Given the description of an element on the screen output the (x, y) to click on. 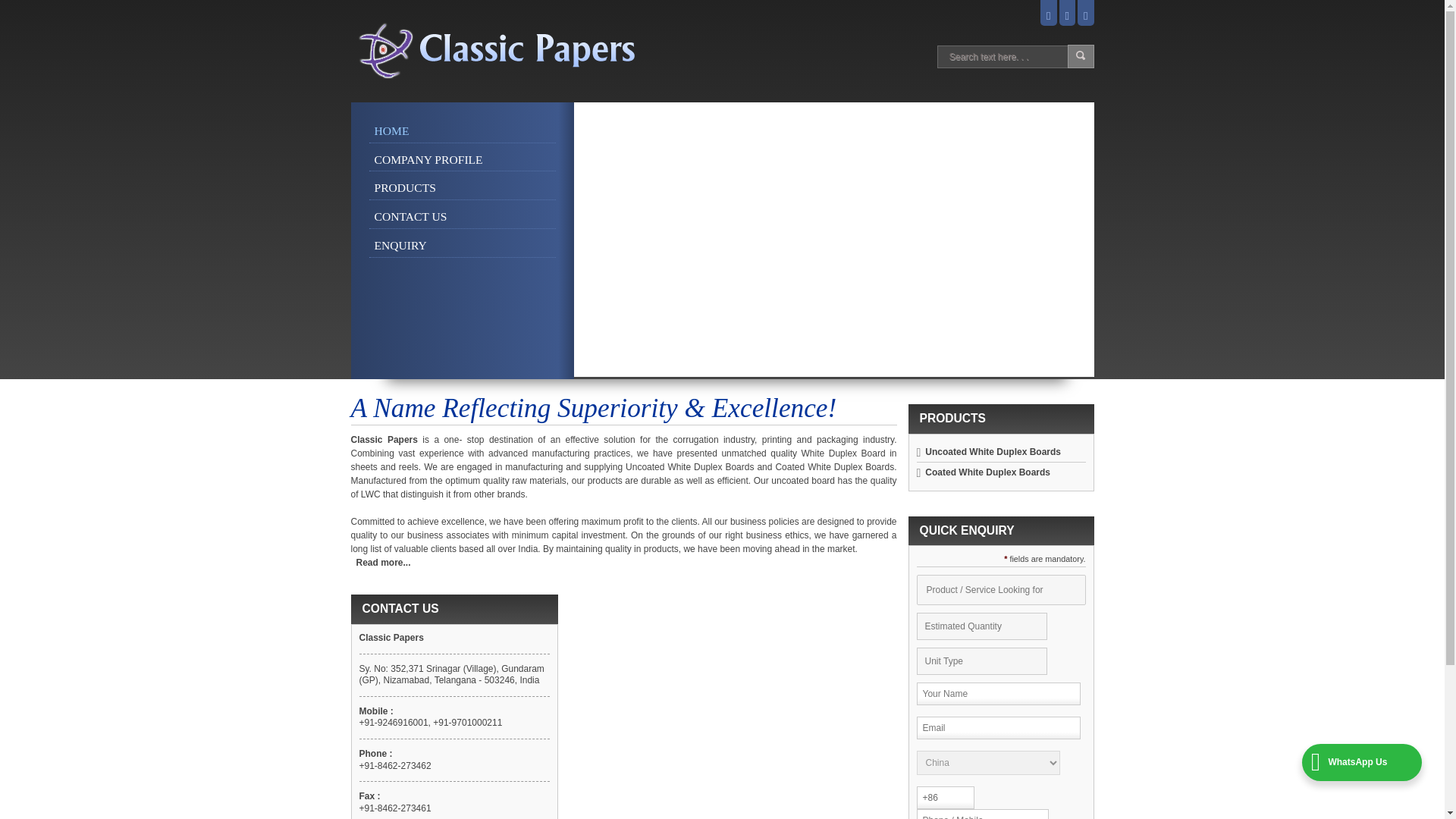
ENQUIRY (461, 246)
Classic Papers (491, 50)
Home (1048, 15)
Coated White Duplex Boards (986, 471)
Uncoated White Duplex Boards (992, 451)
CONTACT US (461, 217)
Company Profile (461, 160)
Contact Us (461, 217)
Enquiry (461, 246)
Contact Us (1067, 15)
